Given the description of an element on the screen output the (x, y) to click on. 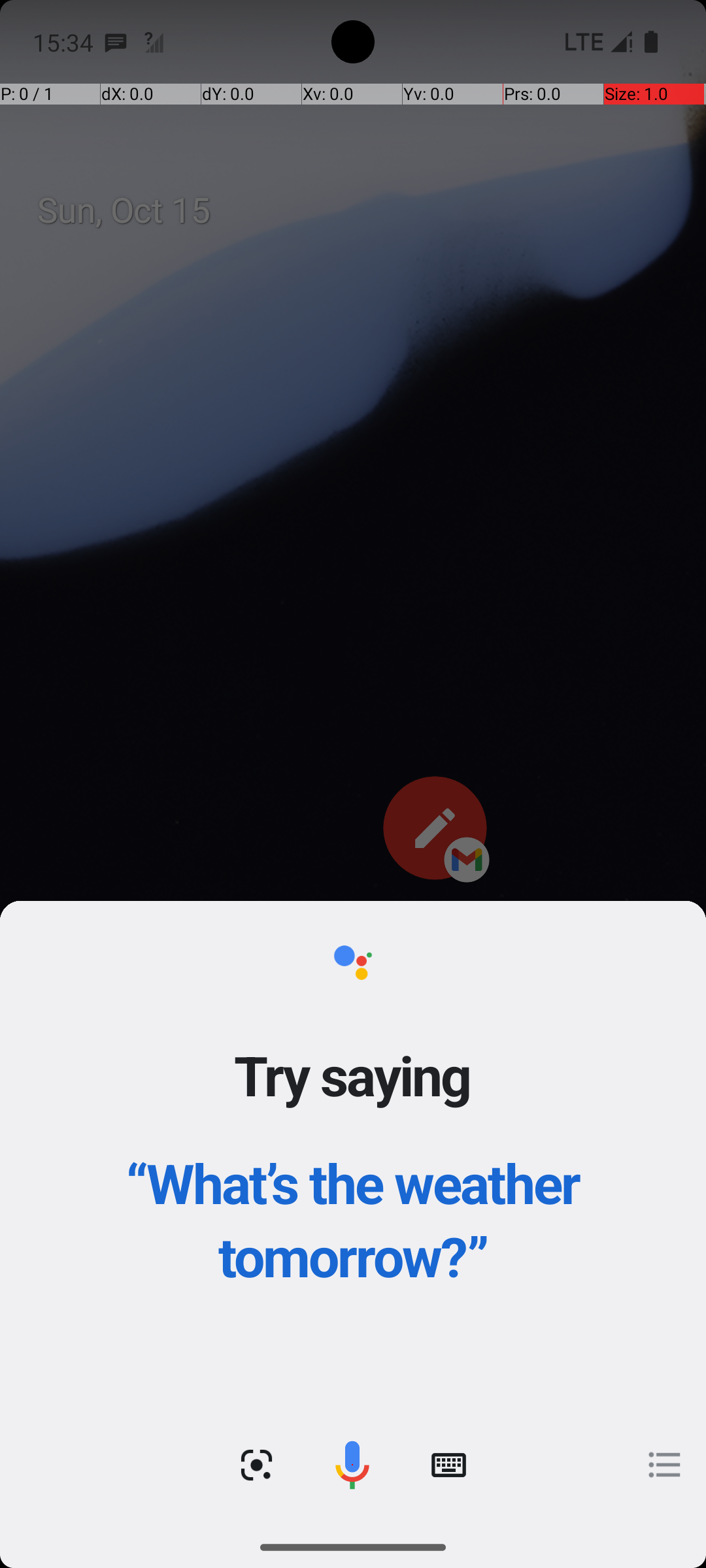
Tap to dismiss Assistant Element type: android.view.ViewGroup (353, 804)
Google Assistant widget. Element type: android.support.v7.widget.RecyclerView (353, 1213)
Google Assistant greeting container. Element type: android.widget.LinearLayout (353, 1151)
Voice search button, tap to speak Element type: android.view.View (351, 1465)
Type mode Element type: android.widget.ImageView (448, 1465)
Google Assistant greeting. Element type: android.widget.FrameLayout (353, 1213)
Open explore page Element type: android.widget.ImageView (664, 1464)
Try saying Element type: android.widget.TextView (352, 1074)
“What’s the weather tomorrow?” Element type: android.widget.TextView (352, 1218)
